Given the description of an element on the screen output the (x, y) to click on. 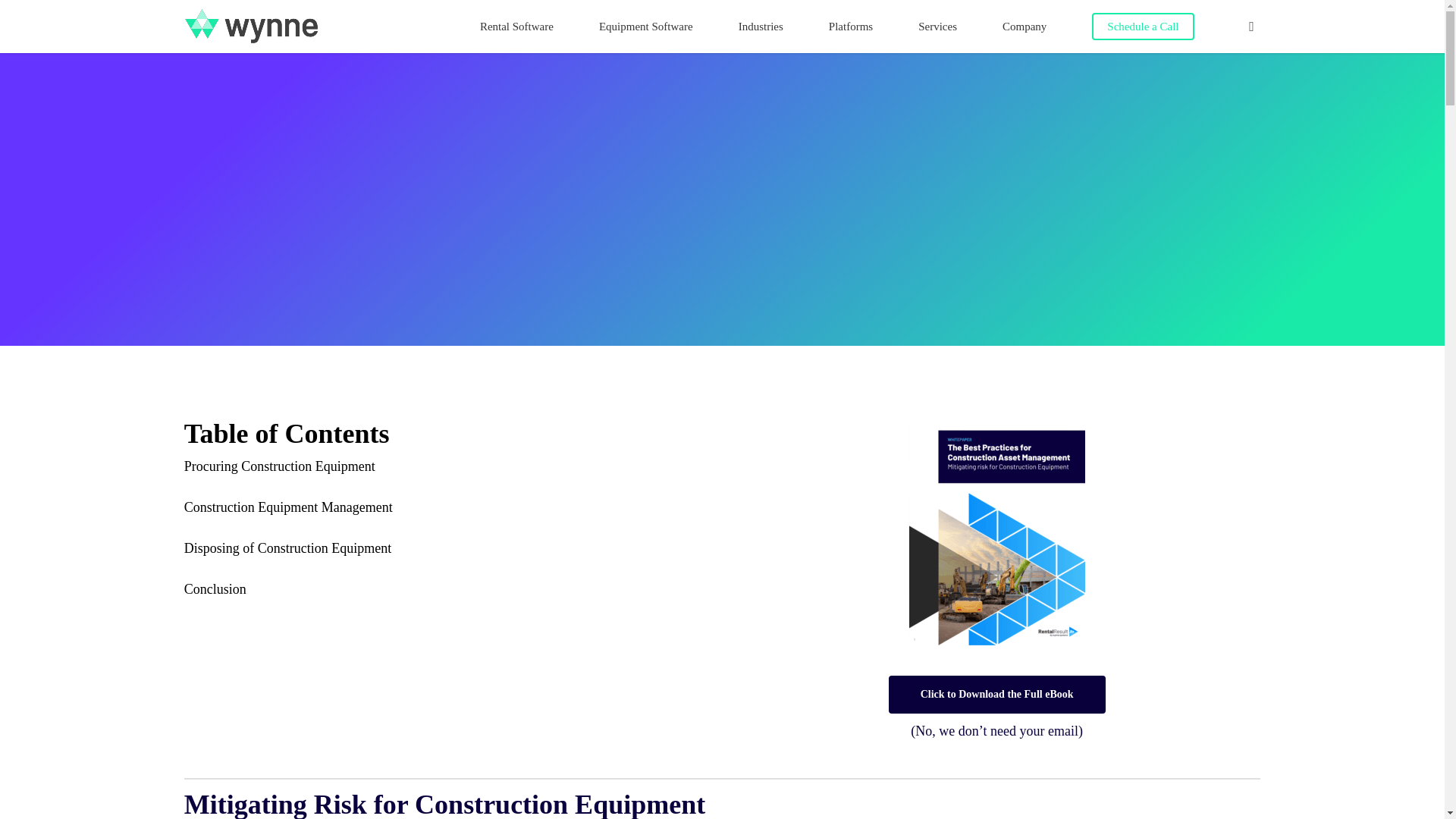
Industries (760, 27)
Rental Software (516, 27)
Platforms (850, 27)
Equipment Software (645, 27)
